Given the description of an element on the screen output the (x, y) to click on. 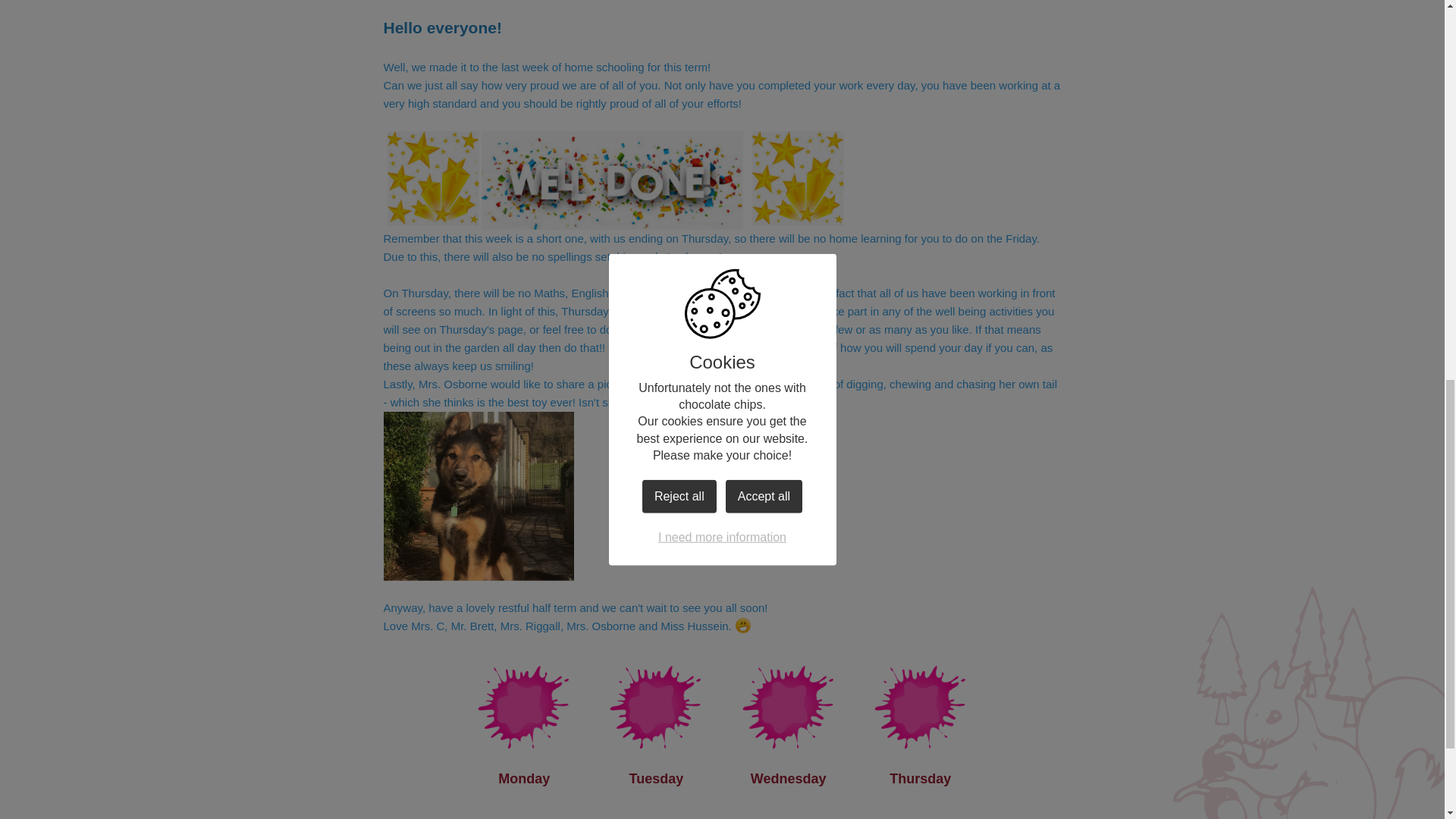
laugh (743, 625)
